Given the description of an element on the screen output the (x, y) to click on. 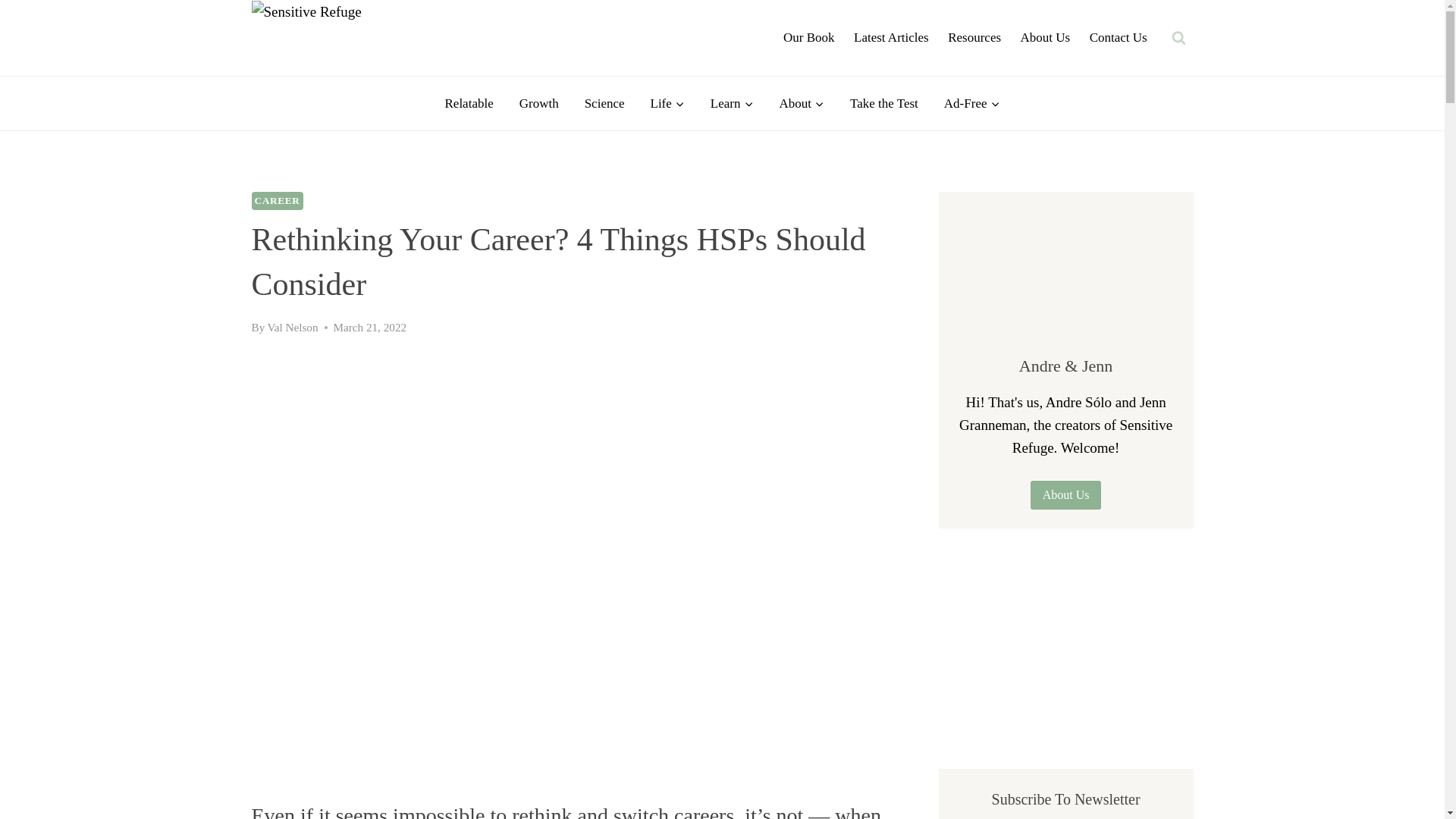
About Us (1045, 37)
Growth (539, 103)
Ad-Free (972, 103)
Latest Articles (890, 37)
Learn (732, 103)
Our Book (808, 37)
Val Nelson (291, 327)
Life (667, 103)
Contact Us (1118, 37)
Take the Test (884, 103)
Relatable (469, 103)
About (801, 103)
Resources (973, 37)
Science (604, 103)
CAREER (276, 200)
